Given the description of an element on the screen output the (x, y) to click on. 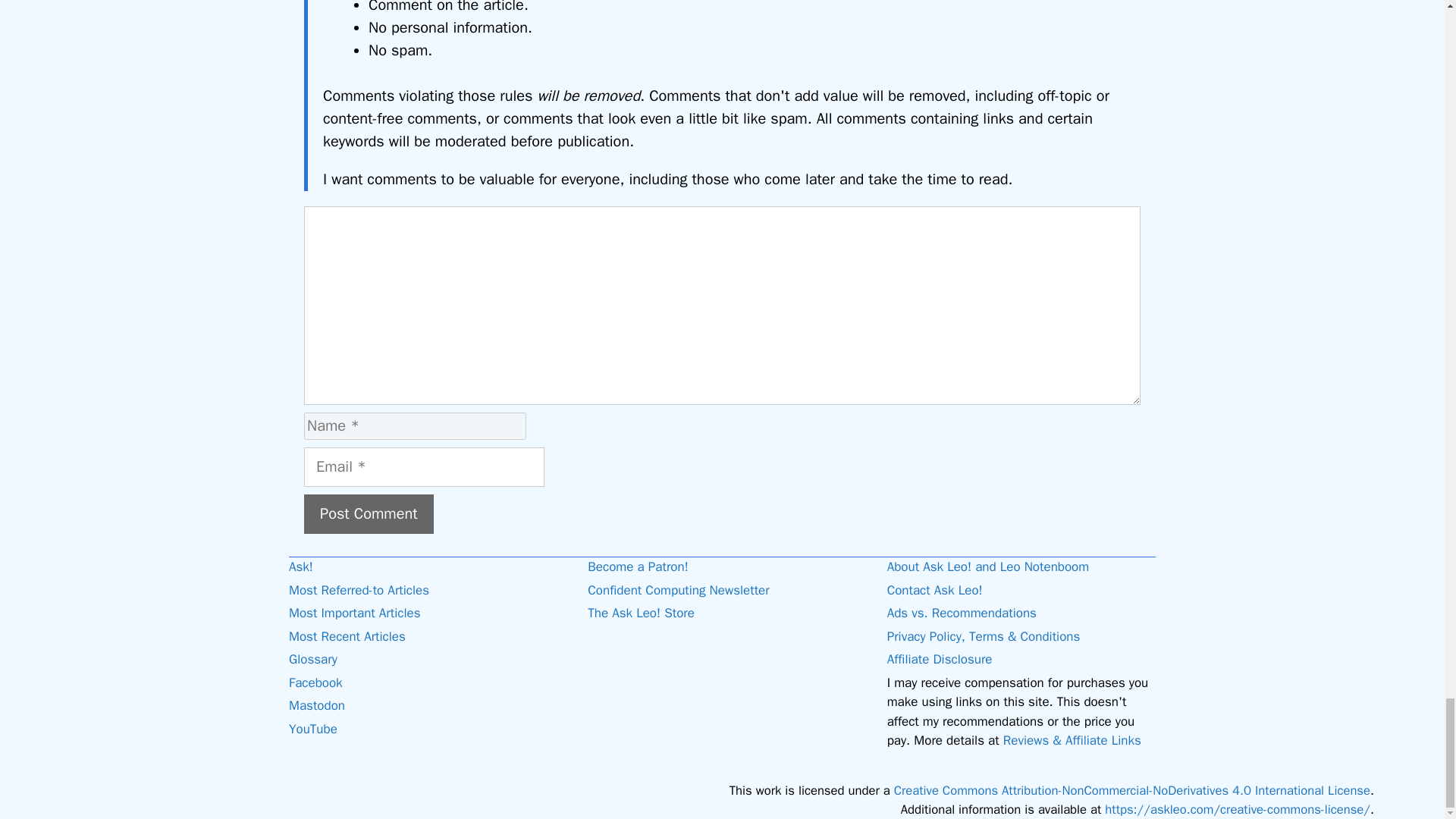
Post Comment (368, 513)
